Given the description of an element on the screen output the (x, y) to click on. 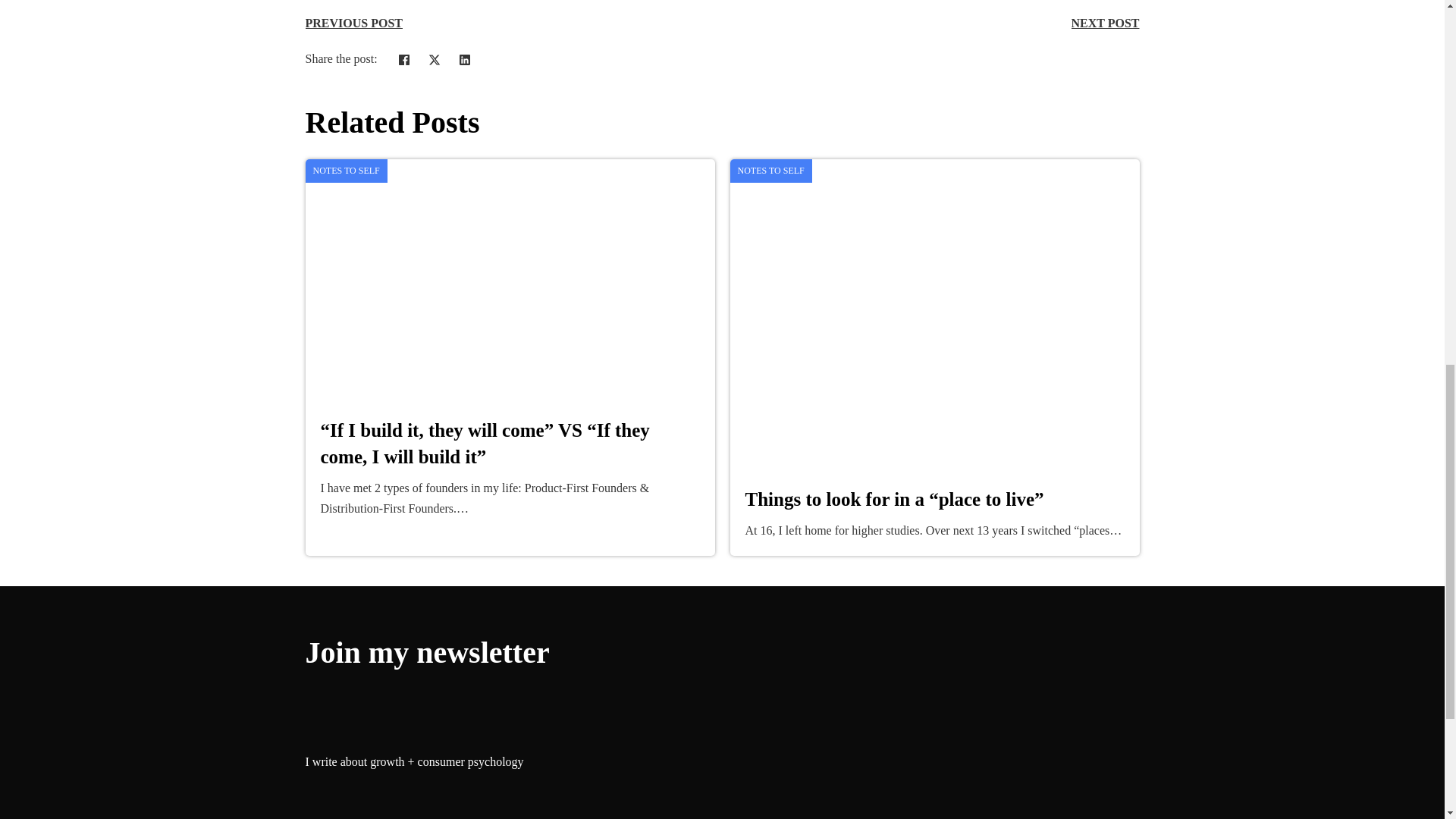
NEXT POST (1105, 23)
PREVIOUS POST (352, 23)
